Given the description of an element on the screen output the (x, y) to click on. 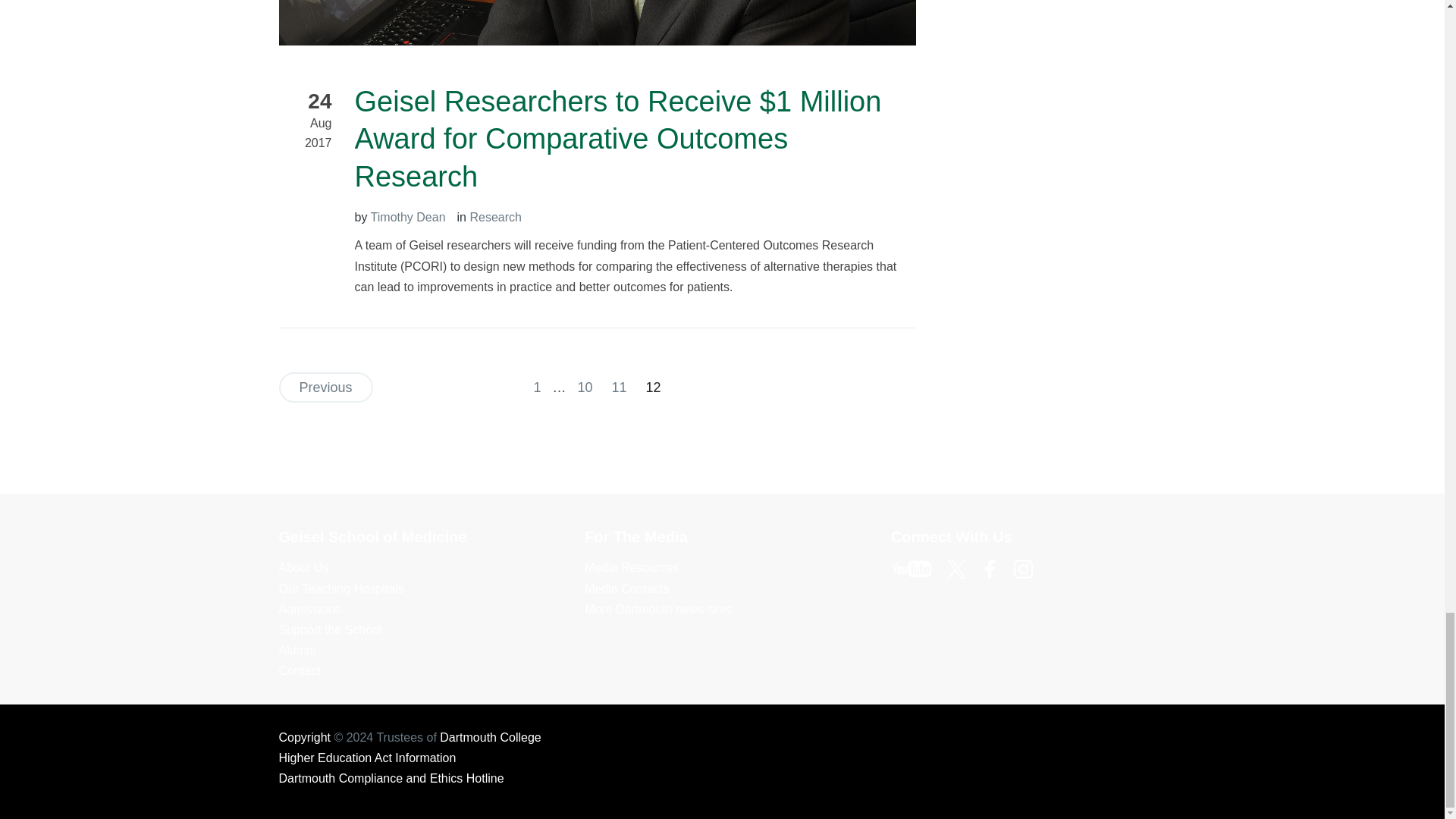
Posts by Timothy Dean (408, 216)
Like us on Facebook (994, 567)
YouTube (917, 567)
